Given the description of an element on the screen output the (x, y) to click on. 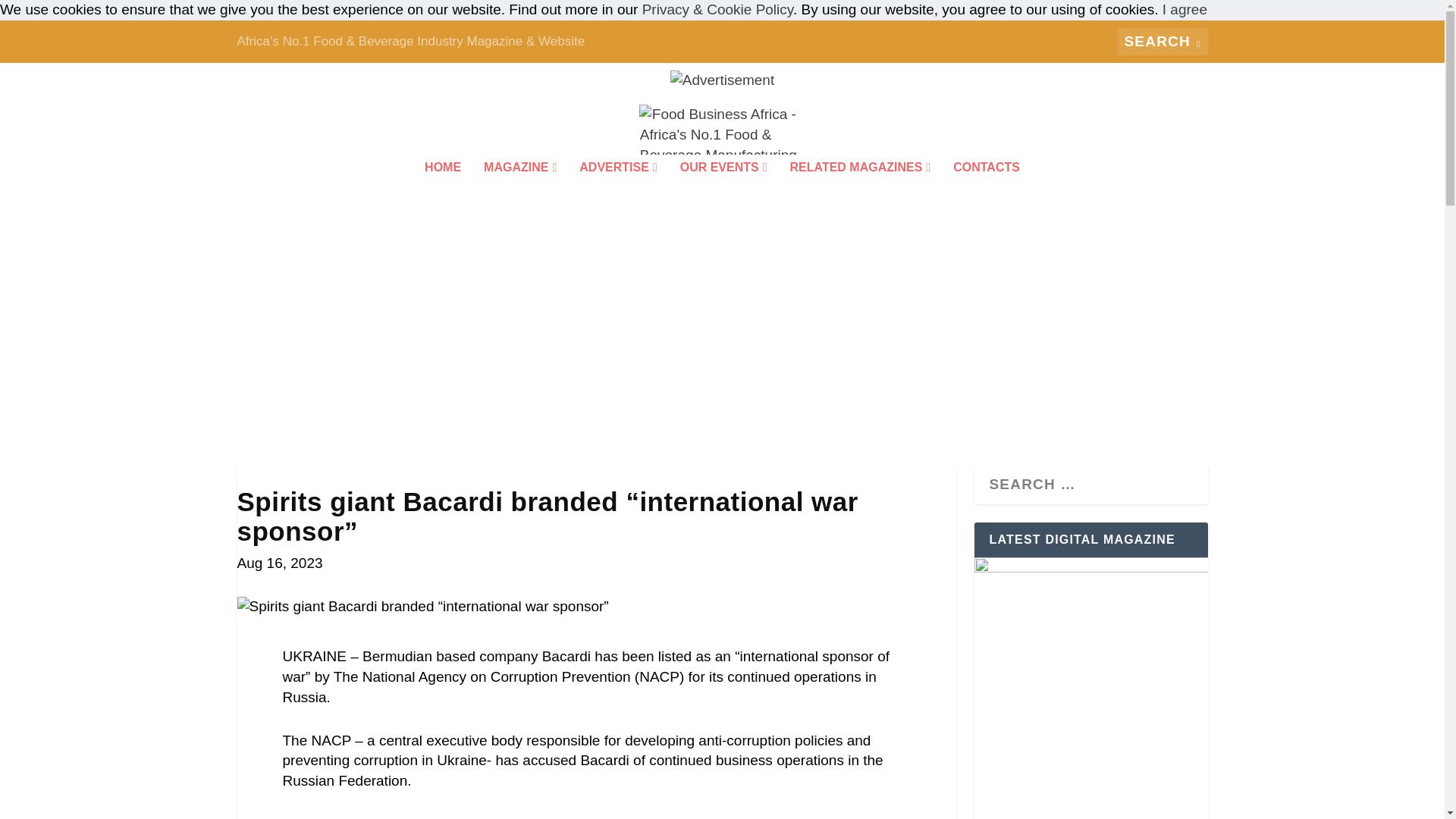
CONTACTS (986, 187)
LATEST DIGITAL MAGAZINE (1090, 688)
MAGAZINE (519, 187)
ADVERTISE (617, 187)
OUR EVENTS (723, 187)
I agree (1184, 9)
RELATED MAGAZINES (860, 187)
Search for: (1161, 41)
